Given the description of an element on the screen output the (x, y) to click on. 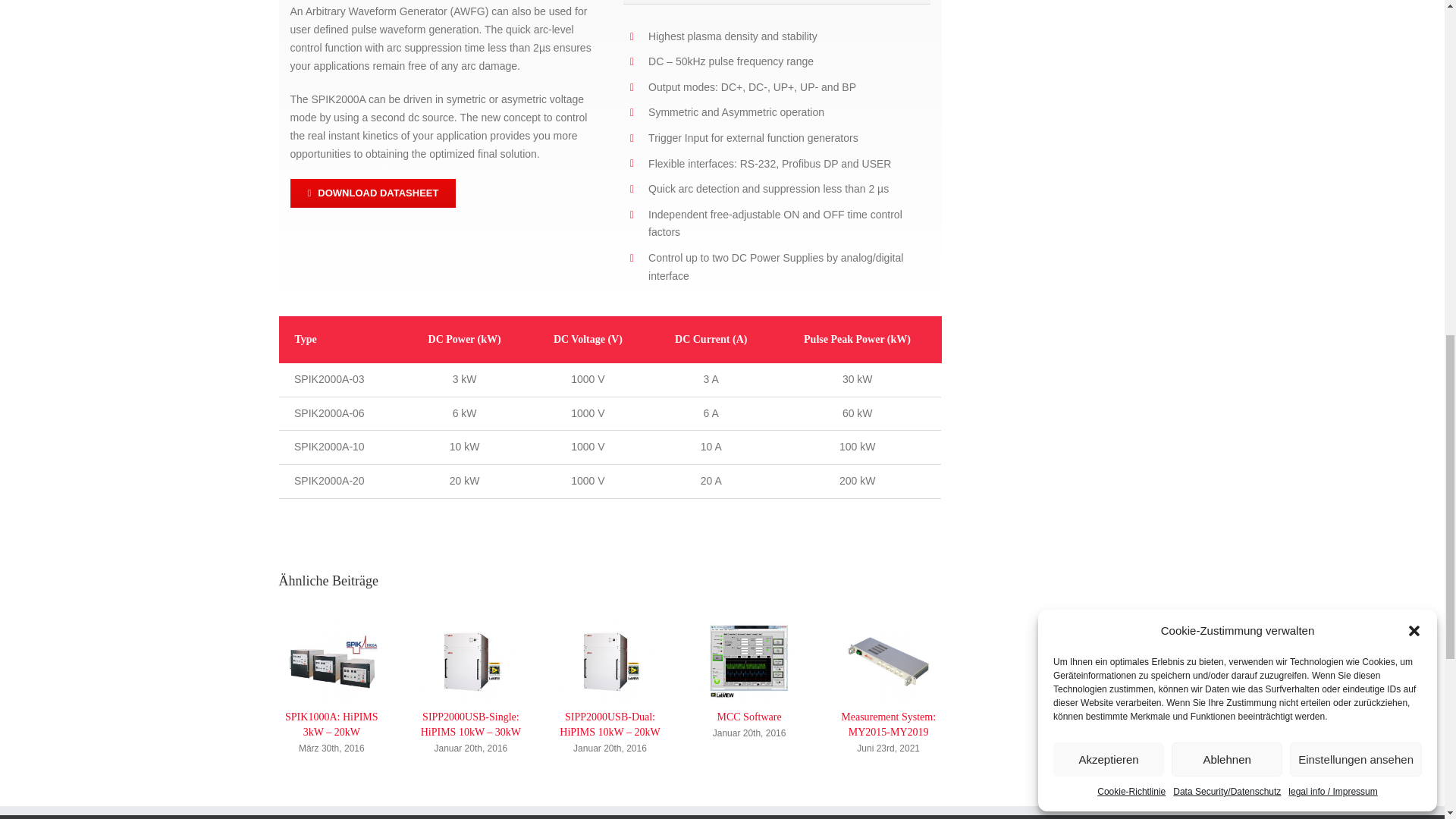
MCC Software (748, 716)
Measurement System: MY2015-MY2019 (888, 724)
